Given the description of an element on the screen output the (x, y) to click on. 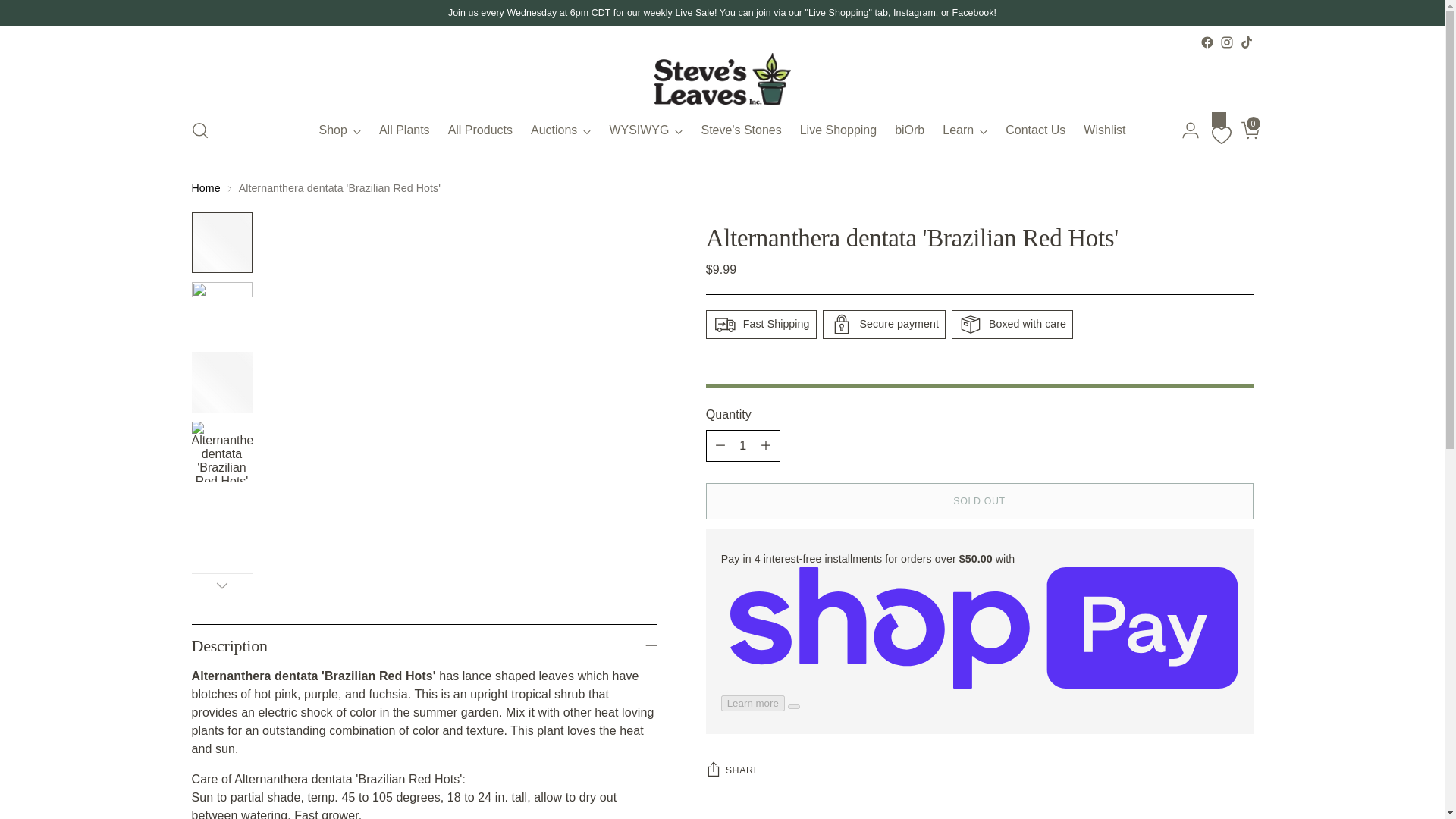
1 (743, 445)
Steve's Leaves on Tiktok (1245, 42)
Steve's Leaves on Facebook (1205, 42)
Shop (339, 130)
Steve's Leaves on Instagram (1226, 42)
Down (220, 585)
